Given the description of an element on the screen output the (x, y) to click on. 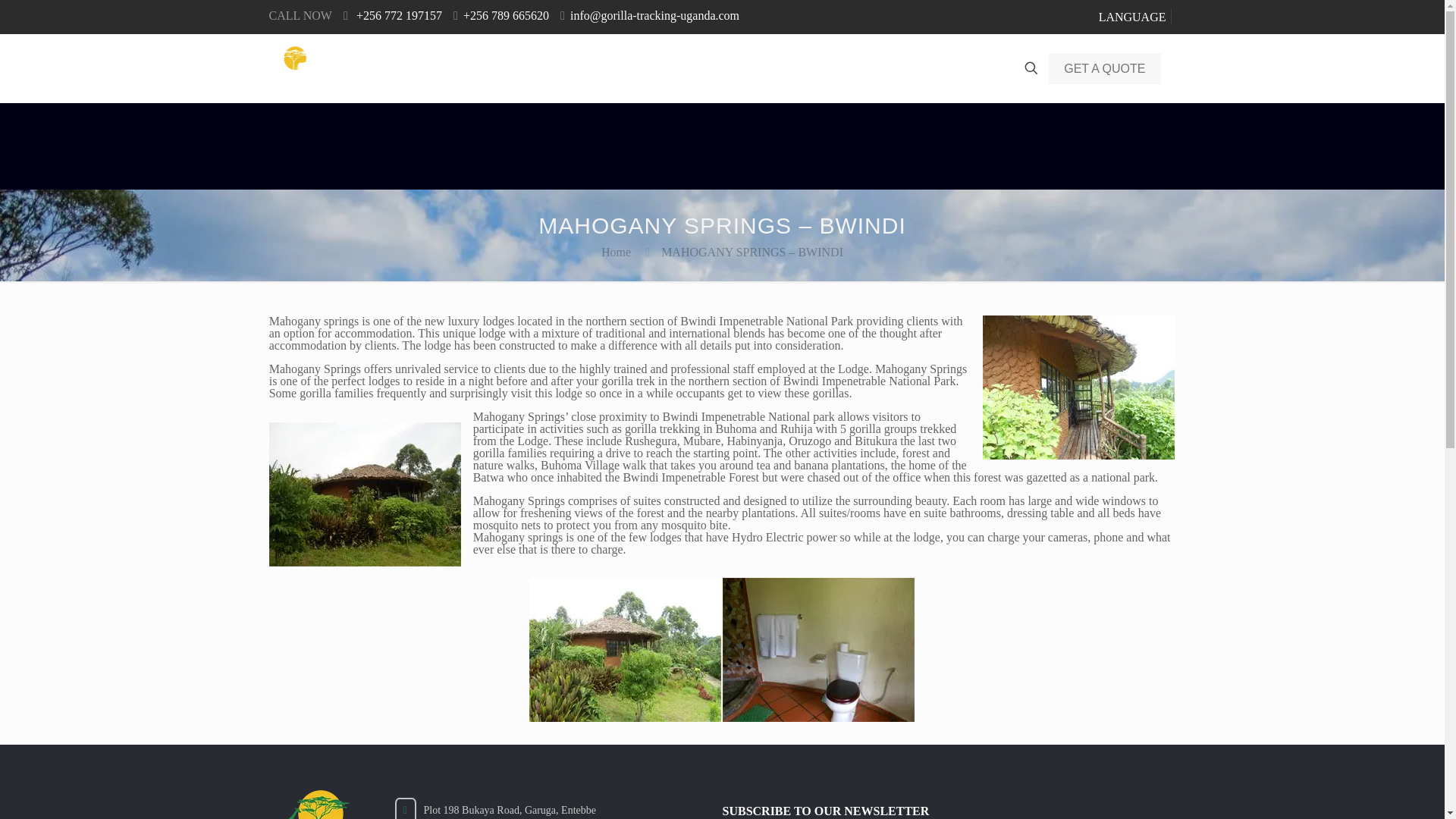
LANGUAGE (1132, 16)
Gorilla Safaris (585, 68)
Home (500, 68)
